Given the description of an element on the screen output the (x, y) to click on. 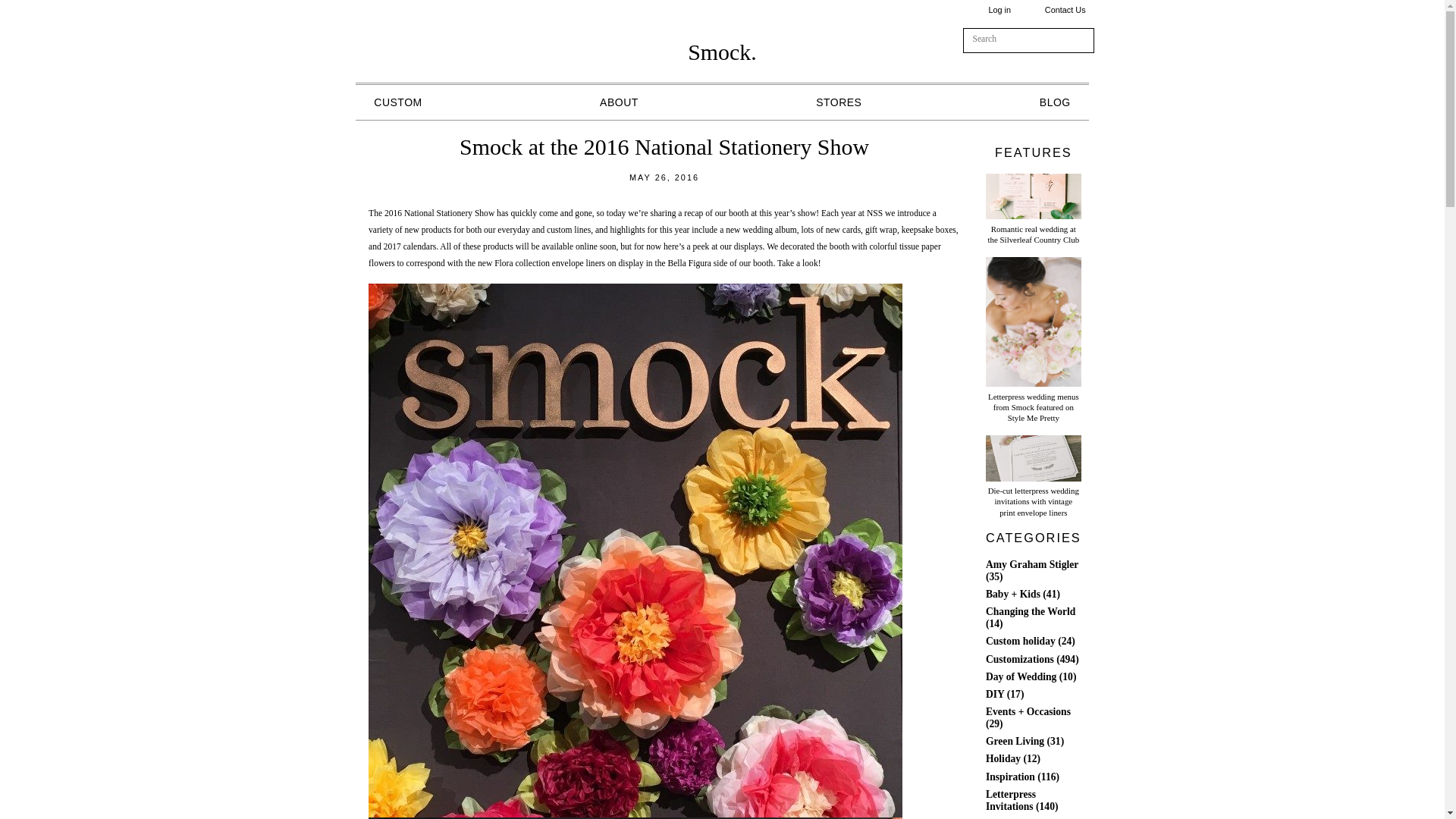
Log in (999, 9)
Bella Figura side of our booth (720, 263)
Contact Us (1065, 9)
ABOUT (619, 102)
CUSTOM (398, 102)
STORES (838, 102)
Smock. (722, 51)
BLOG (1054, 102)
